Given the description of an element on the screen output the (x, y) to click on. 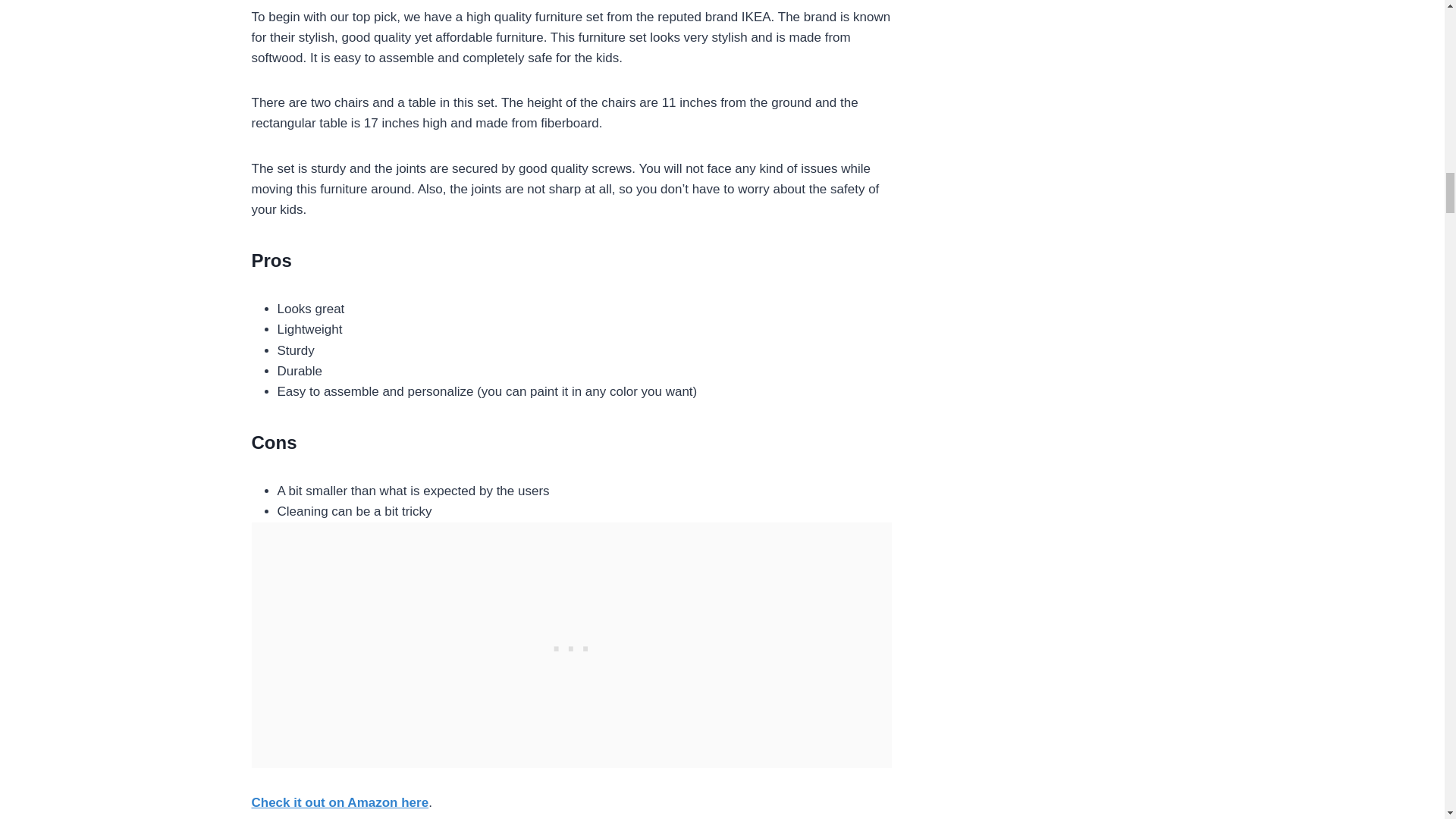
Check it out on Amazon here (340, 802)
